Given the description of an element on the screen output the (x, y) to click on. 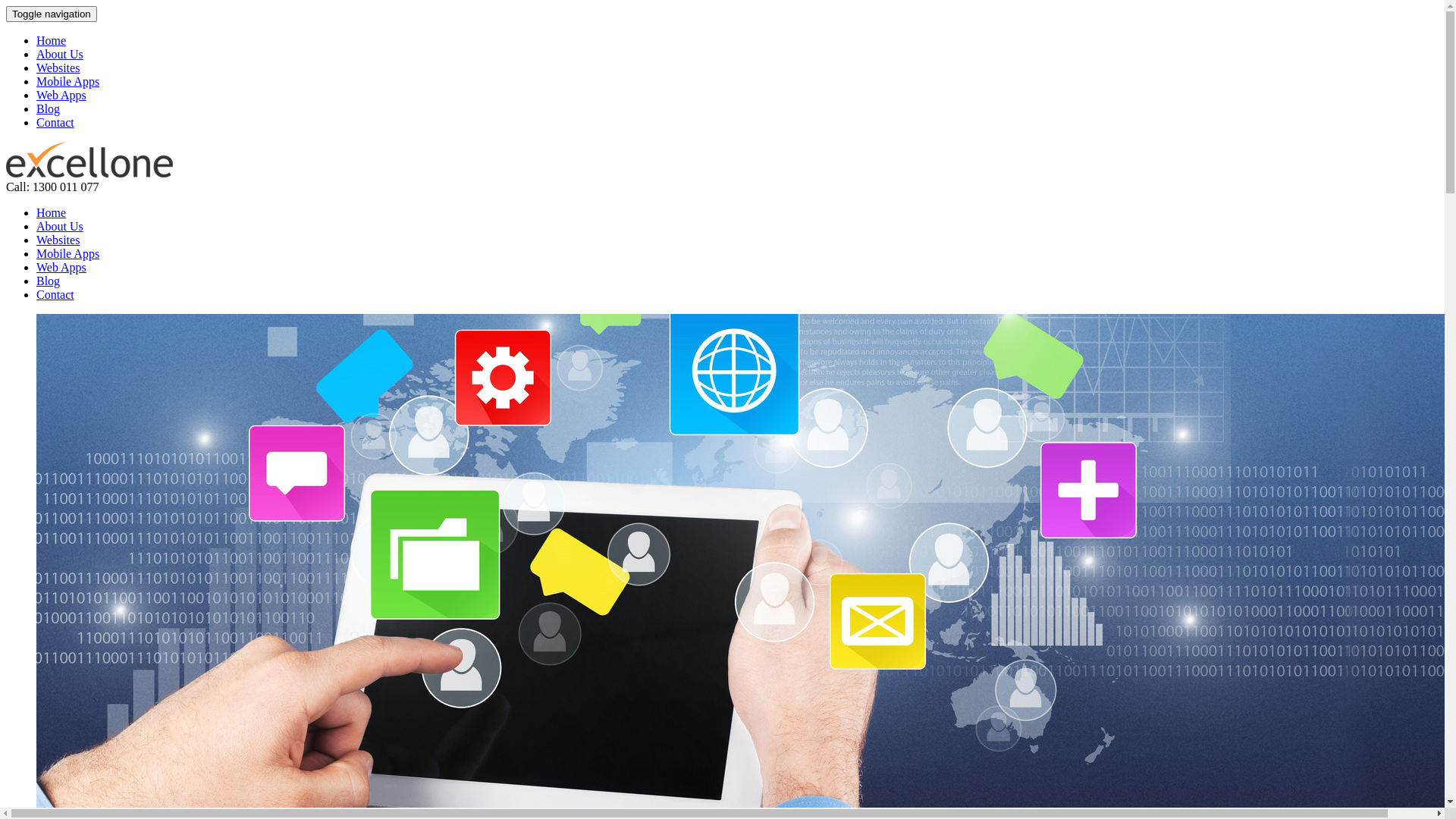
Toggle navigation Element type: text (51, 13)
Websites Element type: text (57, 67)
About Us Element type: text (59, 53)
Contact Element type: text (55, 294)
Web Apps Element type: text (61, 94)
Blog Element type: text (47, 108)
Home Element type: text (50, 40)
Mobile Apps Element type: text (67, 253)
Blog Element type: text (47, 280)
Mobile Apps Element type: text (67, 81)
About Us Element type: text (59, 225)
Contact Element type: text (55, 122)
Home Element type: text (50, 212)
Websites Element type: text (57, 239)
Web Apps Element type: text (61, 266)
